Given the description of an element on the screen output the (x, y) to click on. 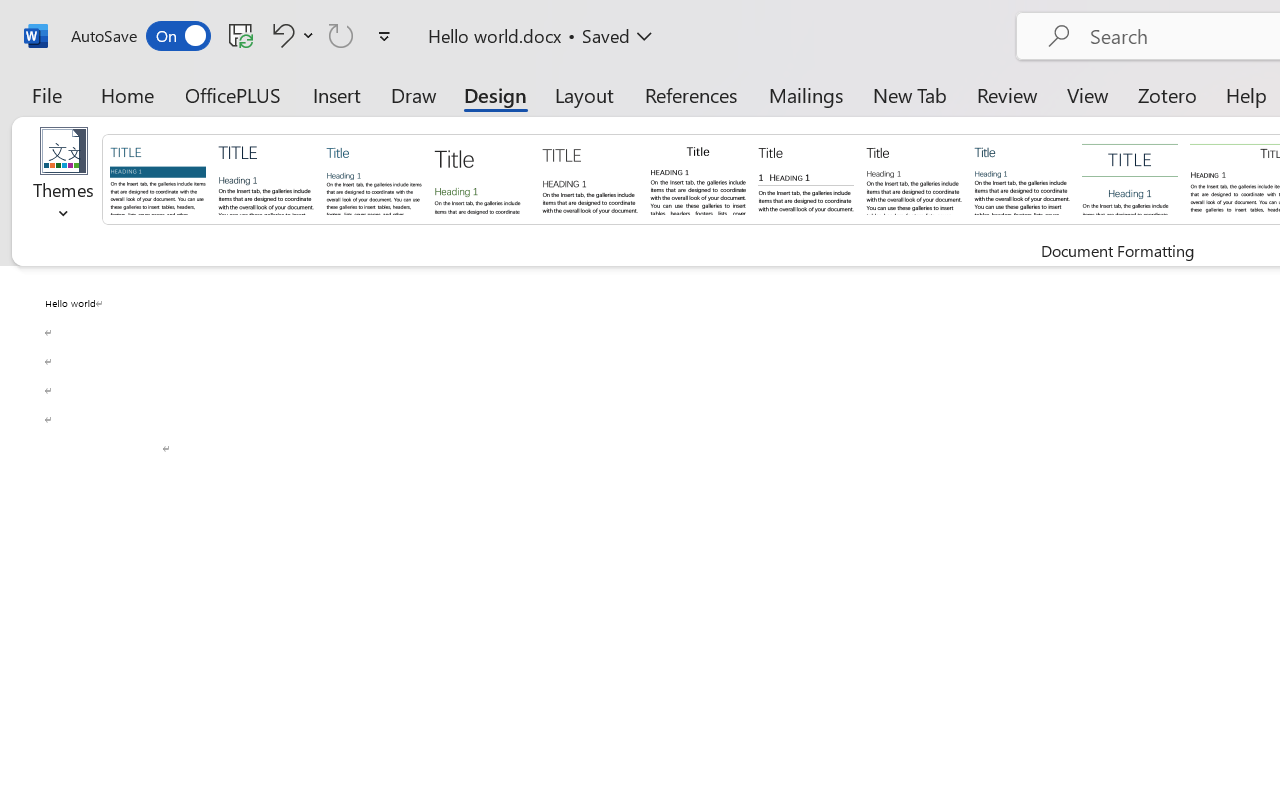
Casual (1021, 178)
Home (127, 94)
References (690, 94)
Basic (Stylish) (481, 178)
Save (241, 35)
AutoSave (140, 35)
OfficePLUS (233, 94)
Quick Access Toolbar (233, 36)
Zotero (1166, 94)
Can't Repeat (341, 35)
Undo Apply Quick Style Set (280, 35)
Black & White (Classic) (697, 178)
Basic (Elegant) (266, 178)
View (1087, 94)
